Given the description of an element on the screen output the (x, y) to click on. 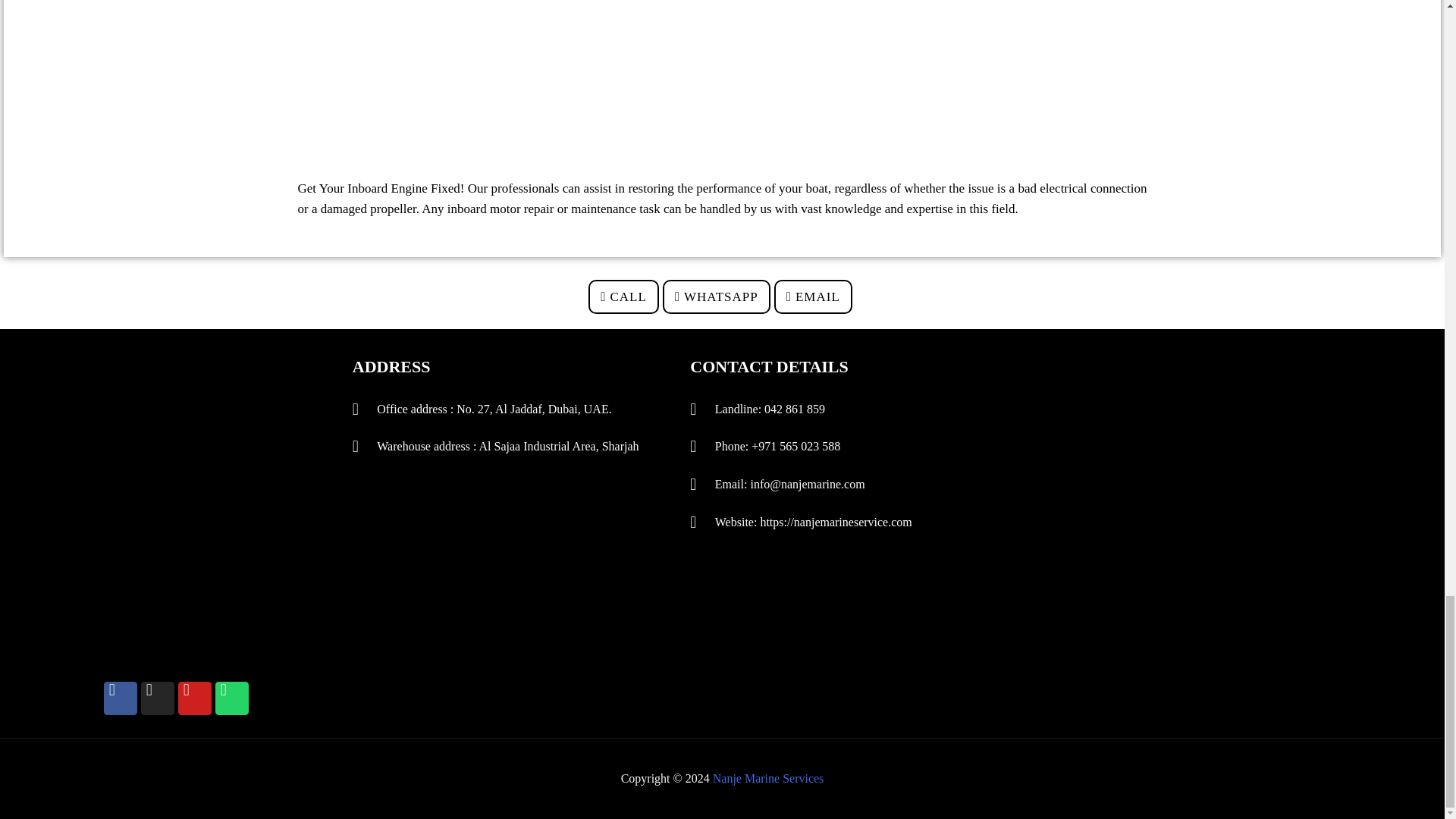
Whatsapp (231, 697)
WHATSAPP (716, 296)
Instagram (157, 697)
Landline: 042 861 859 (838, 409)
CALL (623, 296)
Youtube (194, 697)
Facebook (119, 697)
EMAIL (812, 296)
